Given the description of an element on the screen output the (x, y) to click on. 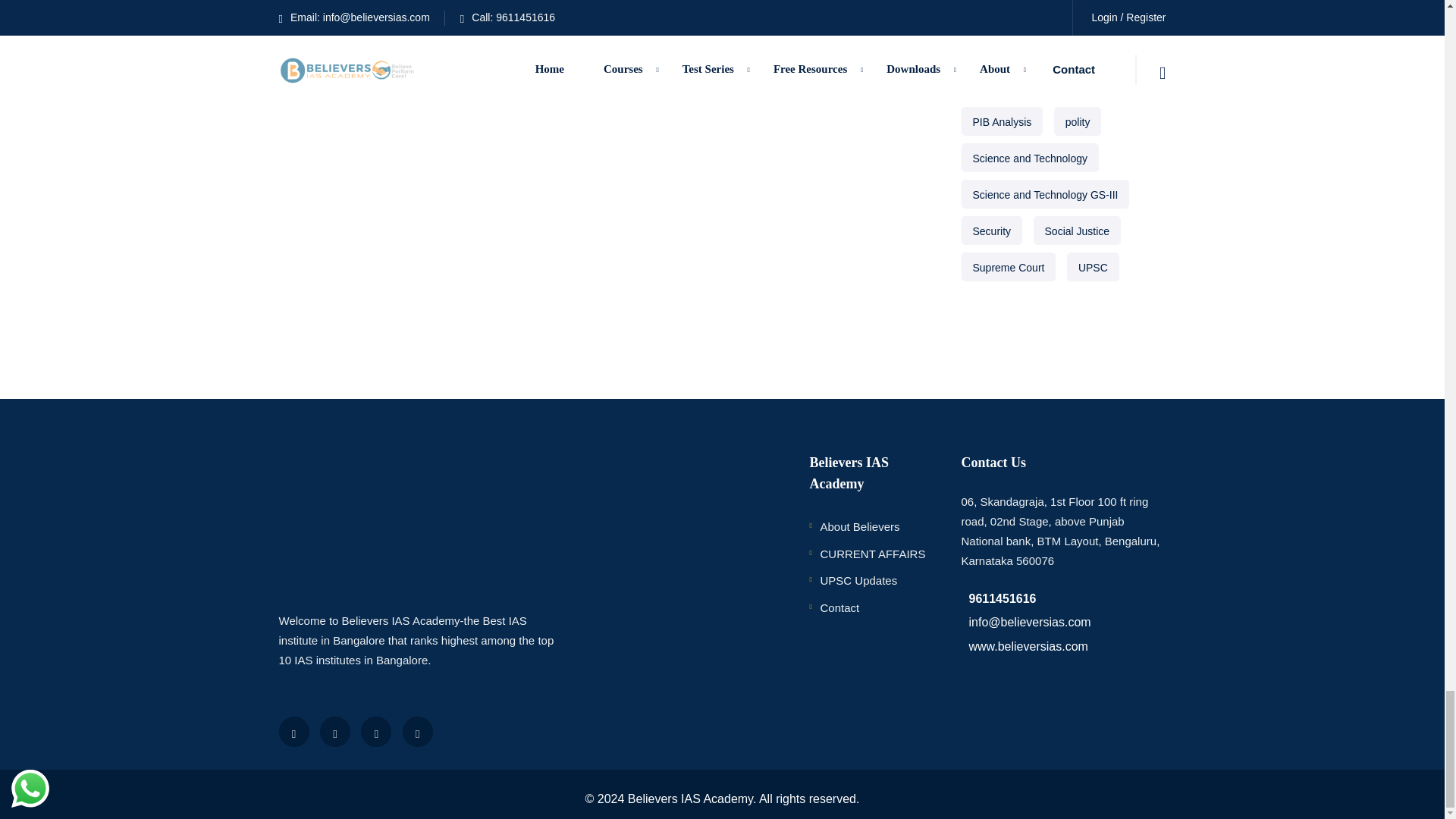
Facebook (293, 731)
Youtube (376, 731)
Instagram (417, 731)
Twitter (335, 731)
